Given the description of an element on the screen output the (x, y) to click on. 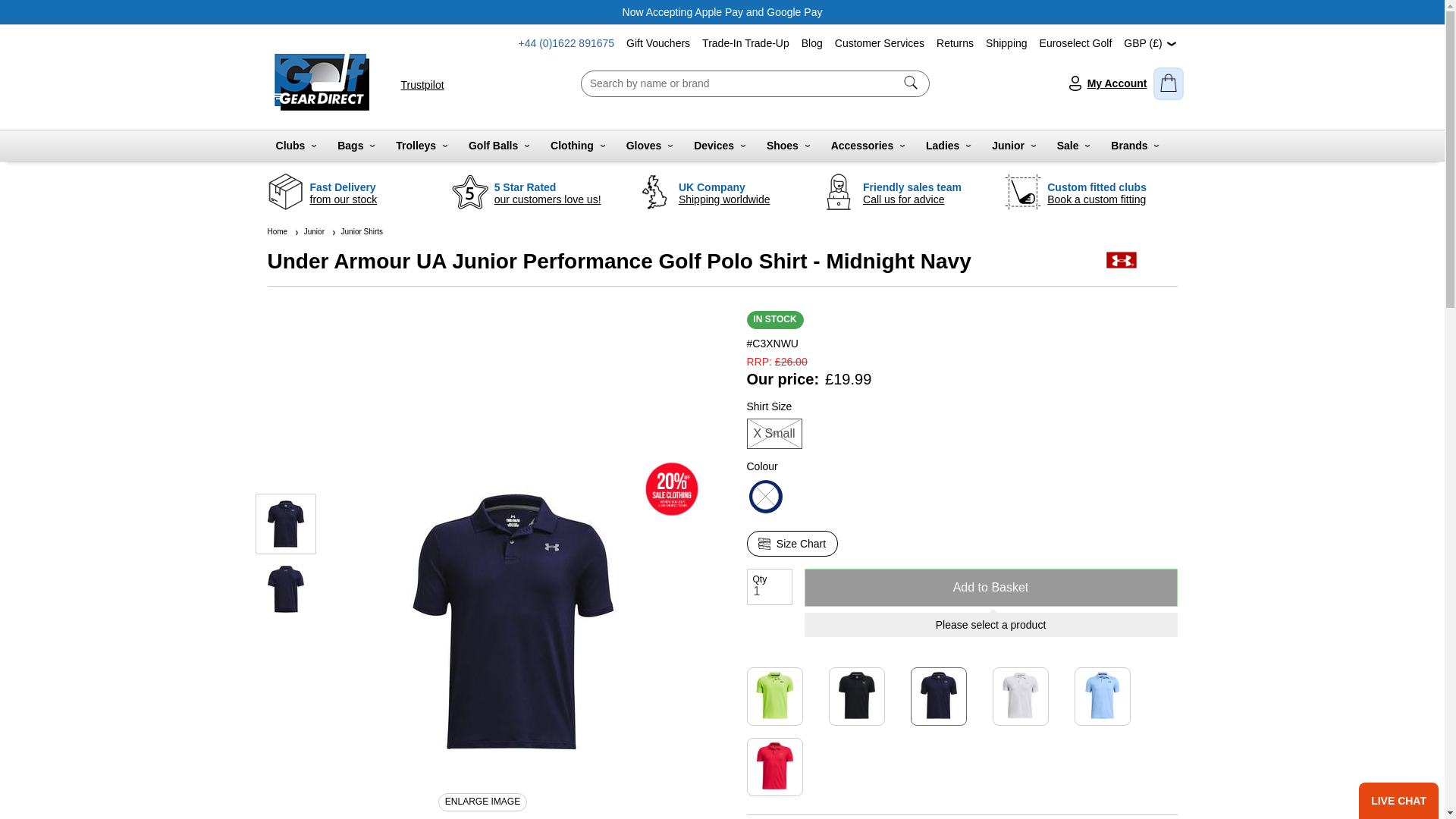
Trade-In Trade-Up (744, 42)
 My Account (1106, 83)
Returns (954, 42)
1632857 (685, 383)
Bags   (356, 145)
1 (768, 586)
Trustpilot (422, 84)
Prices displayed in GBP (1150, 42)
